Given the description of an element on the screen output the (x, y) to click on. 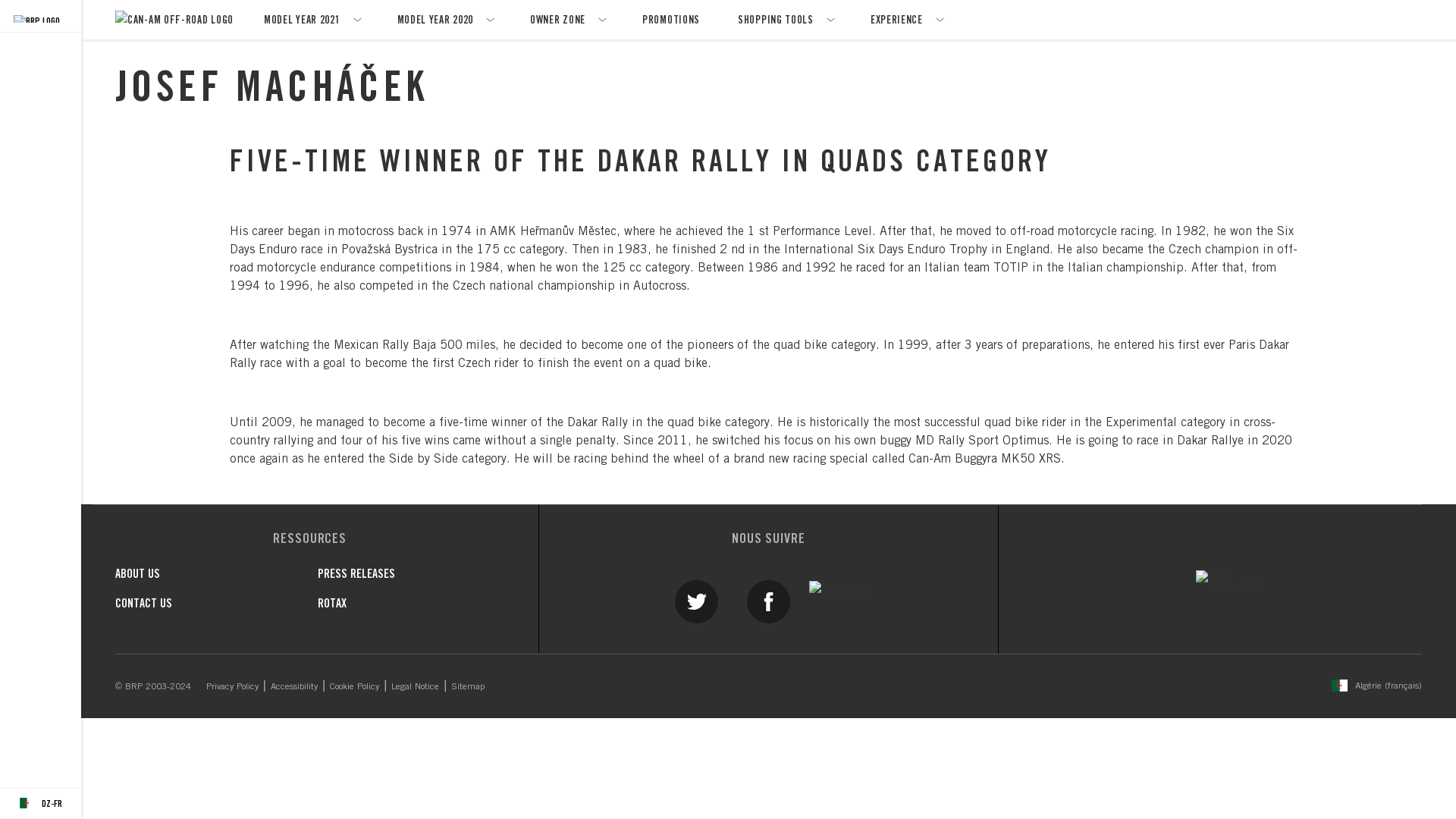
MODEL YEAR 2020 (444, 19)
MODEL YEAR 2021 (311, 19)
OWNER ZONE (567, 19)
